Given the description of an element on the screen output the (x, y) to click on. 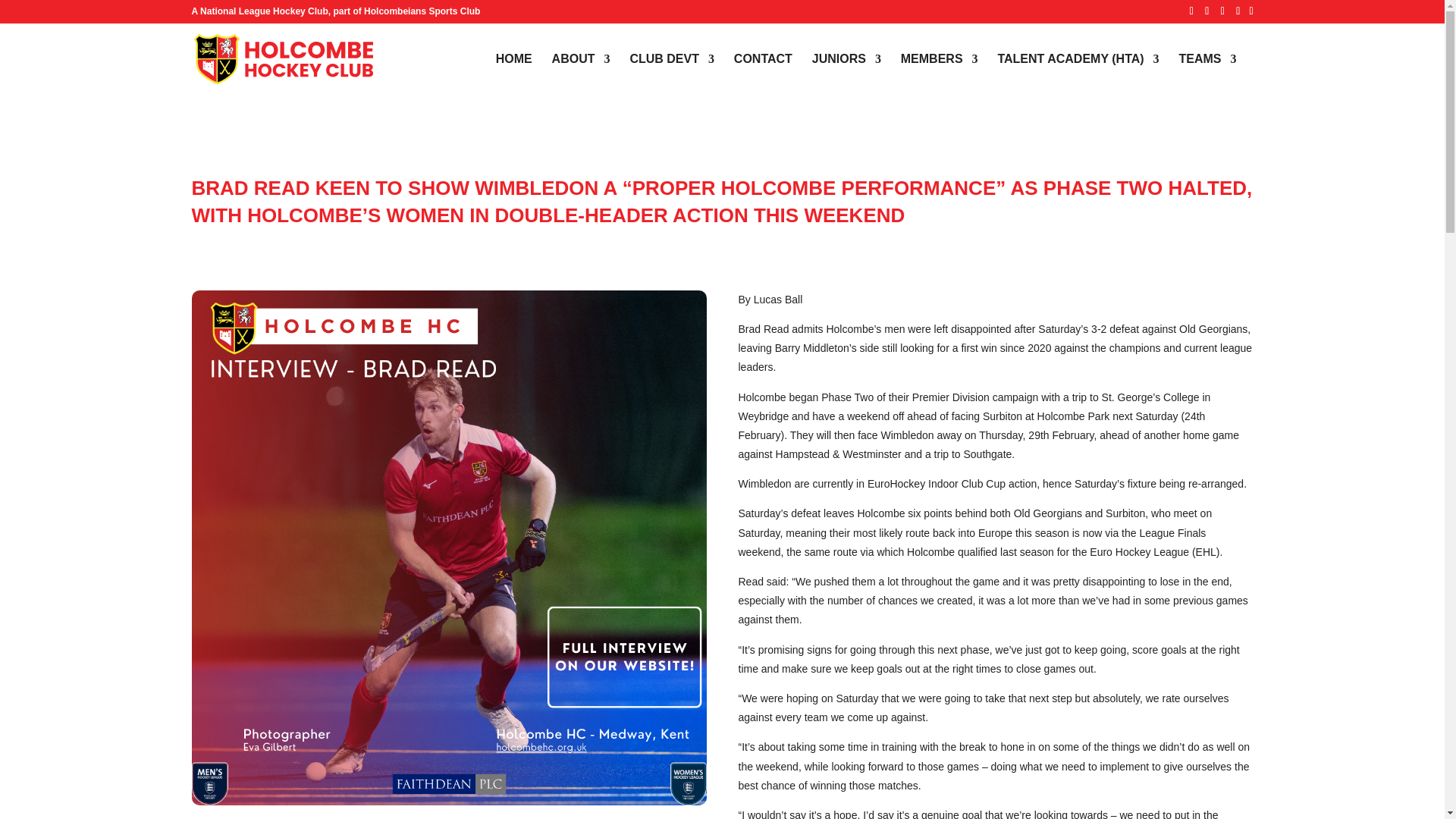
HOME (514, 74)
ABOUT (580, 74)
CLUB DEVT (671, 74)
MEMBERS (939, 74)
CONTACT (762, 74)
JUNIORS (846, 74)
